Given the description of an element on the screen output the (x, y) to click on. 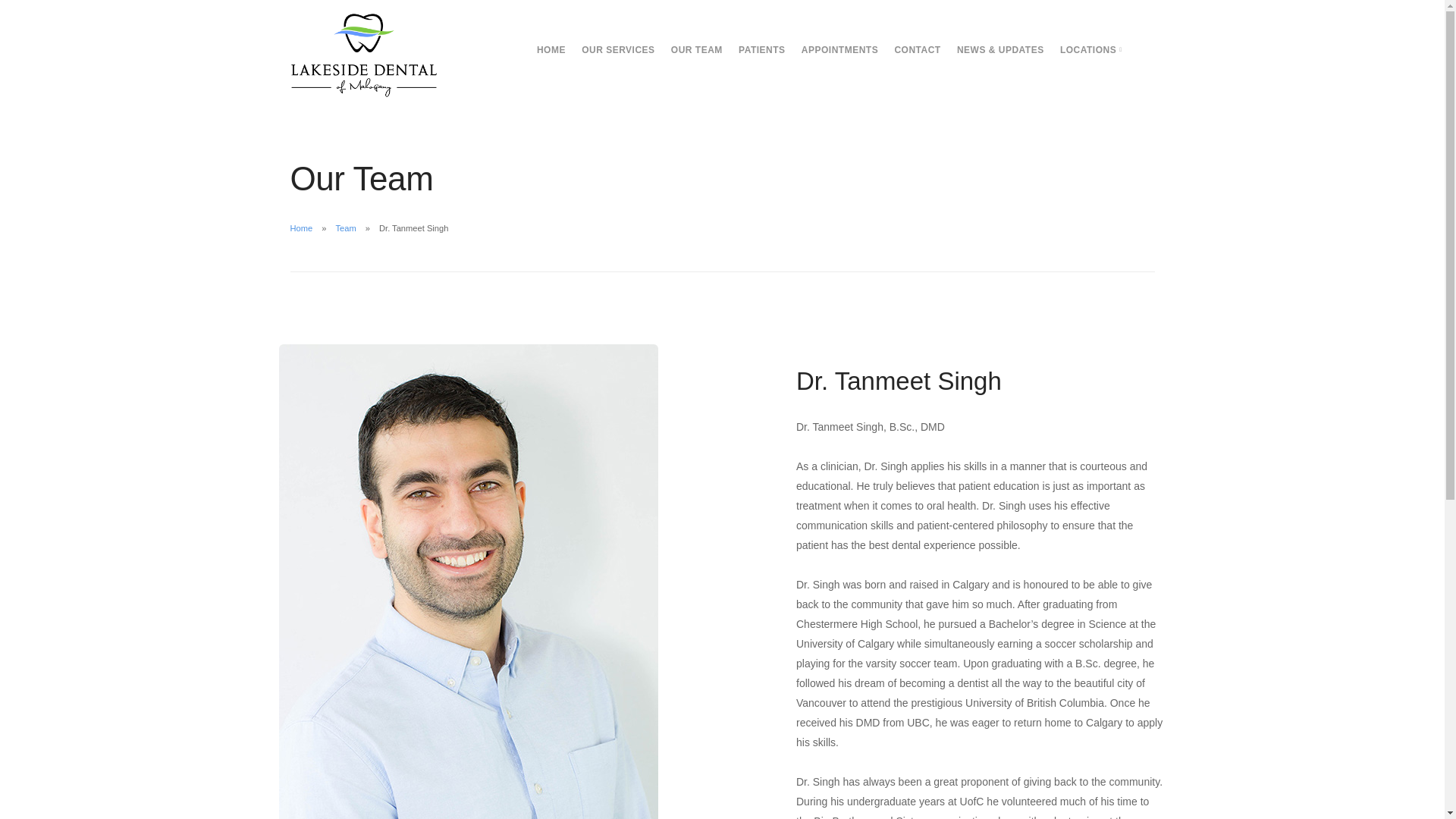
HOME (551, 50)
CONTACT (916, 50)
Home (301, 227)
APPOINTMENTS (839, 50)
OUR TEAM (696, 50)
PATIENTS (762, 50)
OUR SERVICES (616, 50)
Team (344, 227)
